Given the description of an element on the screen output the (x, y) to click on. 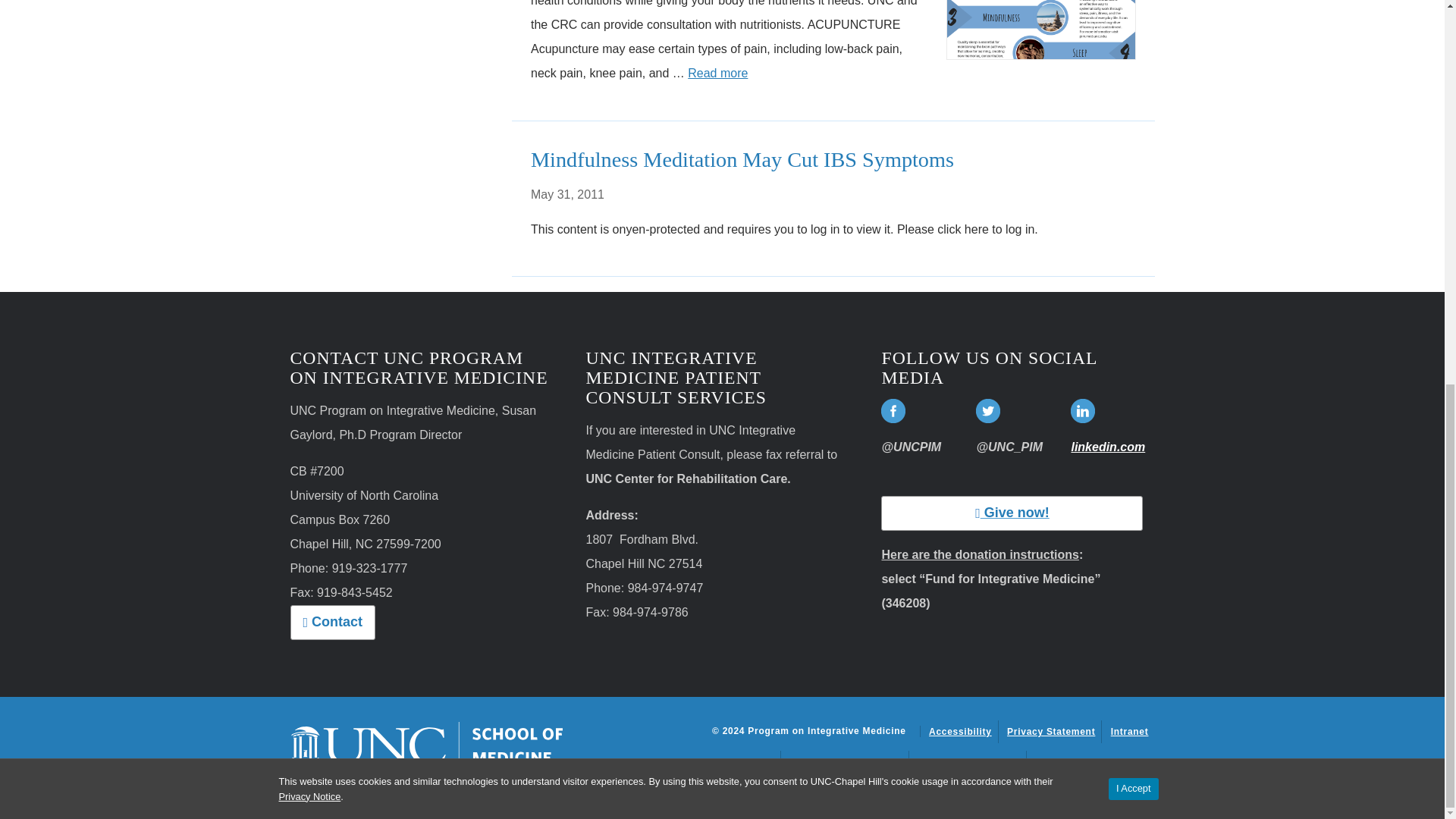
Intranet (1129, 731)
Mindfulness Meditation May Cut IBS Symptoms (742, 159)
Accessibility (959, 731)
Give now! (1011, 513)
Notice of Privacy Practices (718, 761)
Privacy Notice (309, 73)
Privacy Statement (1050, 731)
linkedin.com (1107, 446)
UNC School of Medicine (425, 744)
I Accept (1133, 65)
Read more (717, 72)
Contact (332, 622)
